Given the description of an element on the screen output the (x, y) to click on. 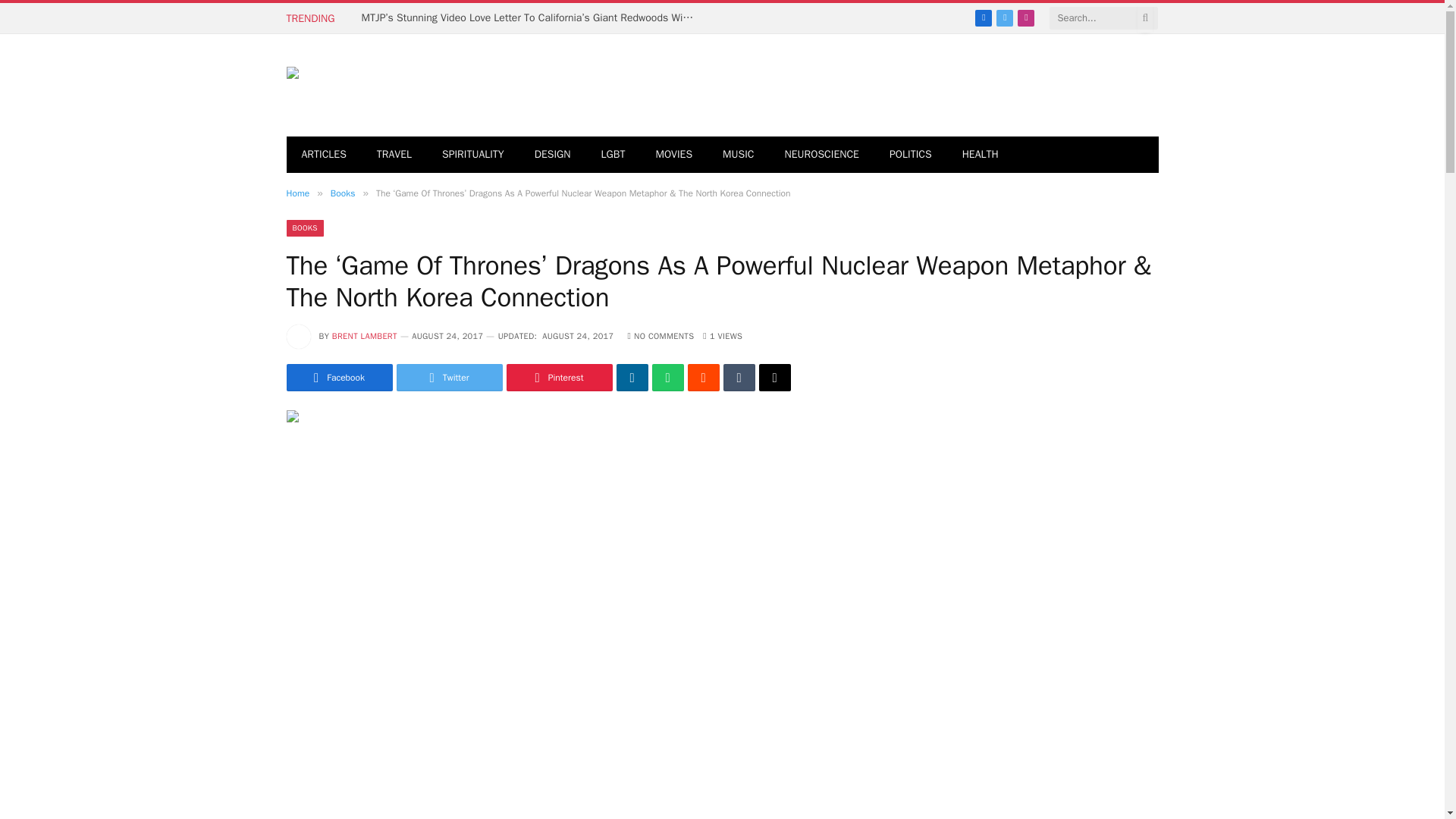
DESIGN (552, 154)
HEALTH (980, 154)
Share on Pinterest (559, 377)
MOVIES (673, 154)
Share on Reddit (703, 377)
TRAVEL (393, 154)
ARTICLES (323, 154)
Share on WhatsApp (668, 377)
Share on Facebook (339, 377)
POLITICS (911, 154)
